Given the description of an element on the screen output the (x, y) to click on. 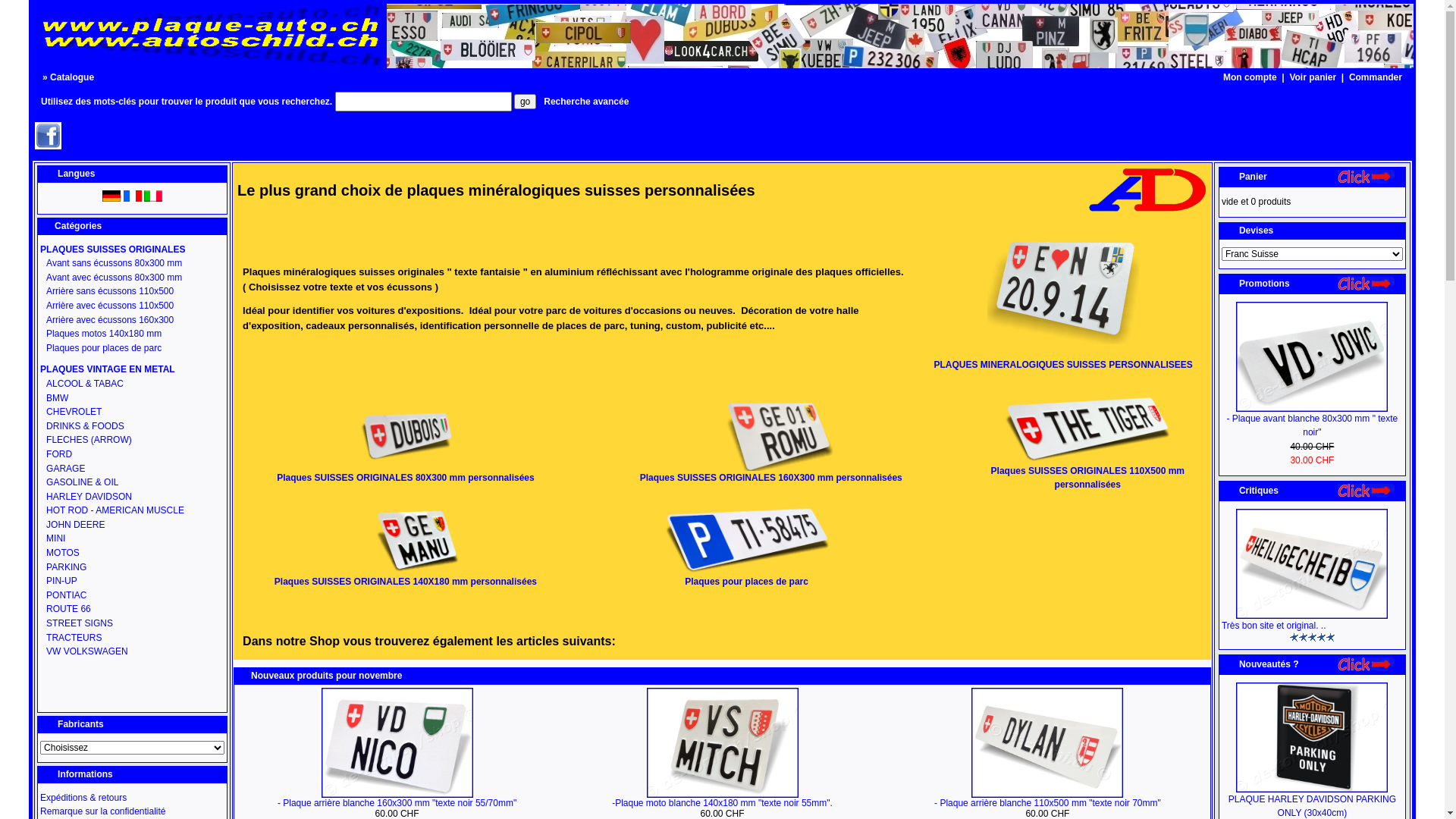
PIN-UP Element type: text (132, 581)
GASOLINE & OIL Element type: text (132, 482)
GARAGE Element type: text (132, 468)
Deutsch Element type: hover (111, 195)
BMW Element type: text (132, 398)
PLAQUES MINERALOGIQUES SUISSES PERSONNALISEES Element type: text (1062, 352)
PONTIAC Element type: text (132, 595)
MINI Element type: text (132, 538)
ROUTE 66 Element type: text (132, 609)
- Plaque avant blanche 80x300 mm " texte noir" Element type: text (1312, 425)
PLAQUES VINTAGE EN METAL Element type: text (132, 369)
go Element type: text (525, 101)
TRACTEURS Element type: text (132, 637)
Catalogue Element type: text (72, 77)
plus Element type: hover (1365, 490)
- Plaque avant blanche 80x300 mm " texte noir" Element type: hover (1311, 356)
HARLEY DAVIDSON Element type: text (132, 496)
plus Element type: hover (1365, 176)
JOHN DEERE Element type: text (132, 524)
PARKING Element type: text (132, 567)
-Plaque moto blanche 140x180 mm  "texte noir 55mm". Element type: hover (721, 742)
PLAQUE HARLEY DAVIDSON PARKING ONLY (30x40cm) Element type: hover (1311, 737)
VW VOLKSWAGEN Element type: text (132, 651)
HOT ROD - AMERICAN MUSCLE Element type: text (132, 510)
Commander Element type: text (1375, 77)
Plaques pour places de parc Element type: text (746, 576)
STREET SIGNS Element type: text (132, 623)
FORD Element type: text (132, 454)
plus Element type: hover (1365, 283)
Plaques pour places de parc Element type: text (132, 348)
PLAQUES SUISSES ORIGINALES Element type: text (132, 249)
MOTOS Element type: text (132, 553)
FACEBOOK Element type: hover (47, 144)
plus Element type: hover (1365, 664)
Voir panier Element type: text (1312, 77)
Plaques motos 140x180 mm Element type: text (132, 333)
CHEVROLET Element type: text (132, 411)
DRINKS & FOODS Element type: text (132, 426)
Mon compte Element type: text (1250, 77)
-Plaque moto blanche 140x180 mm "texte noir 55mm". Element type: text (721, 802)
Italiano Element type: hover (153, 195)
ALCOOL & TABAC Element type: text (132, 383)
FLECHES (ARROW) Element type: text (132, 440)
